Given the description of an element on the screen output the (x, y) to click on. 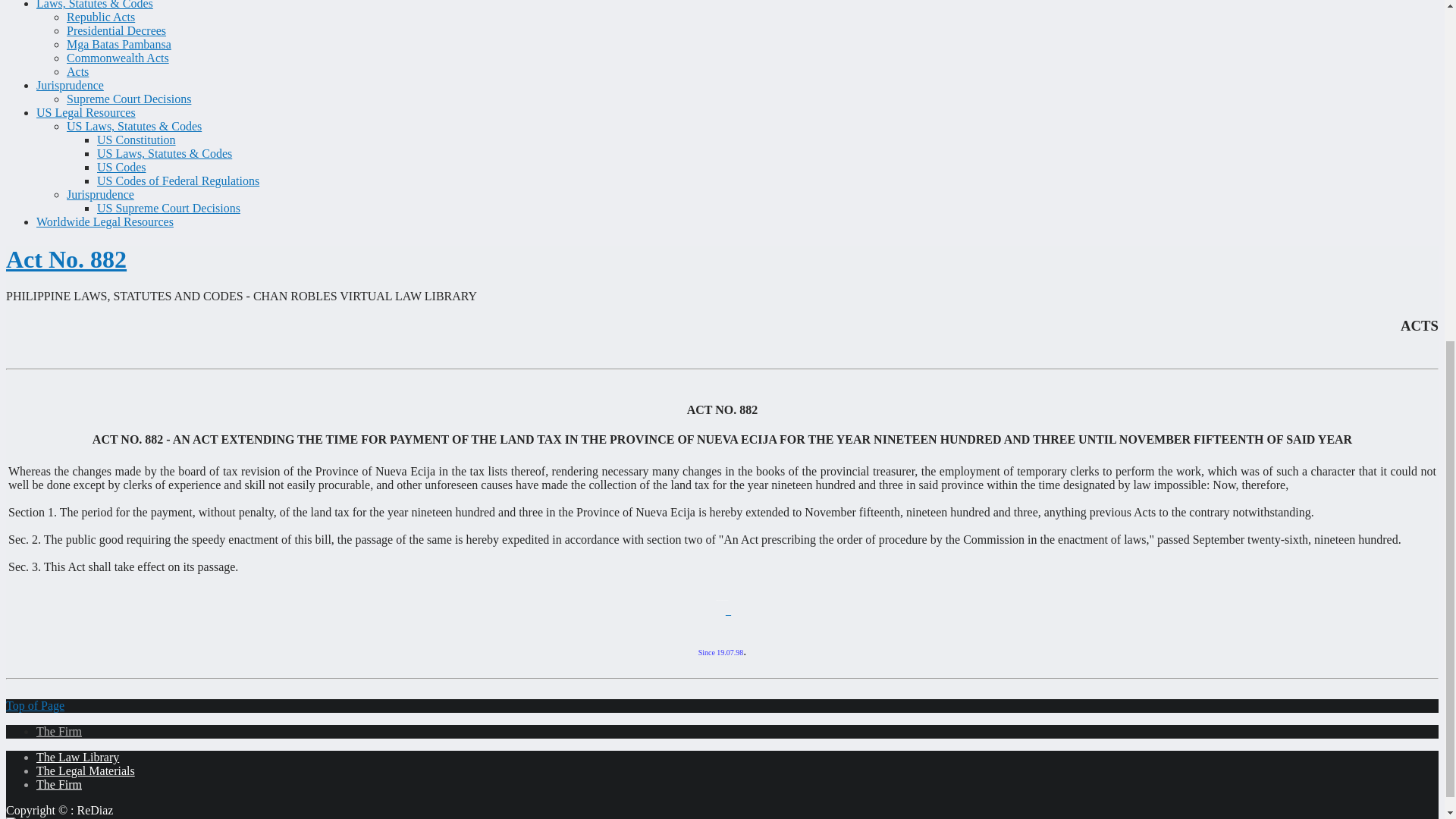
Jurisprudence (69, 84)
Acts (77, 71)
Commonwealth Acts (117, 57)
Supreme Court Decisions (128, 98)
Mga Batas Pambansa (118, 43)
US Constitution (136, 139)
Presidential Decrees (115, 30)
US Codes (121, 166)
Republic Acts (100, 16)
US Legal Resources (85, 112)
